Given the description of an element on the screen output the (x, y) to click on. 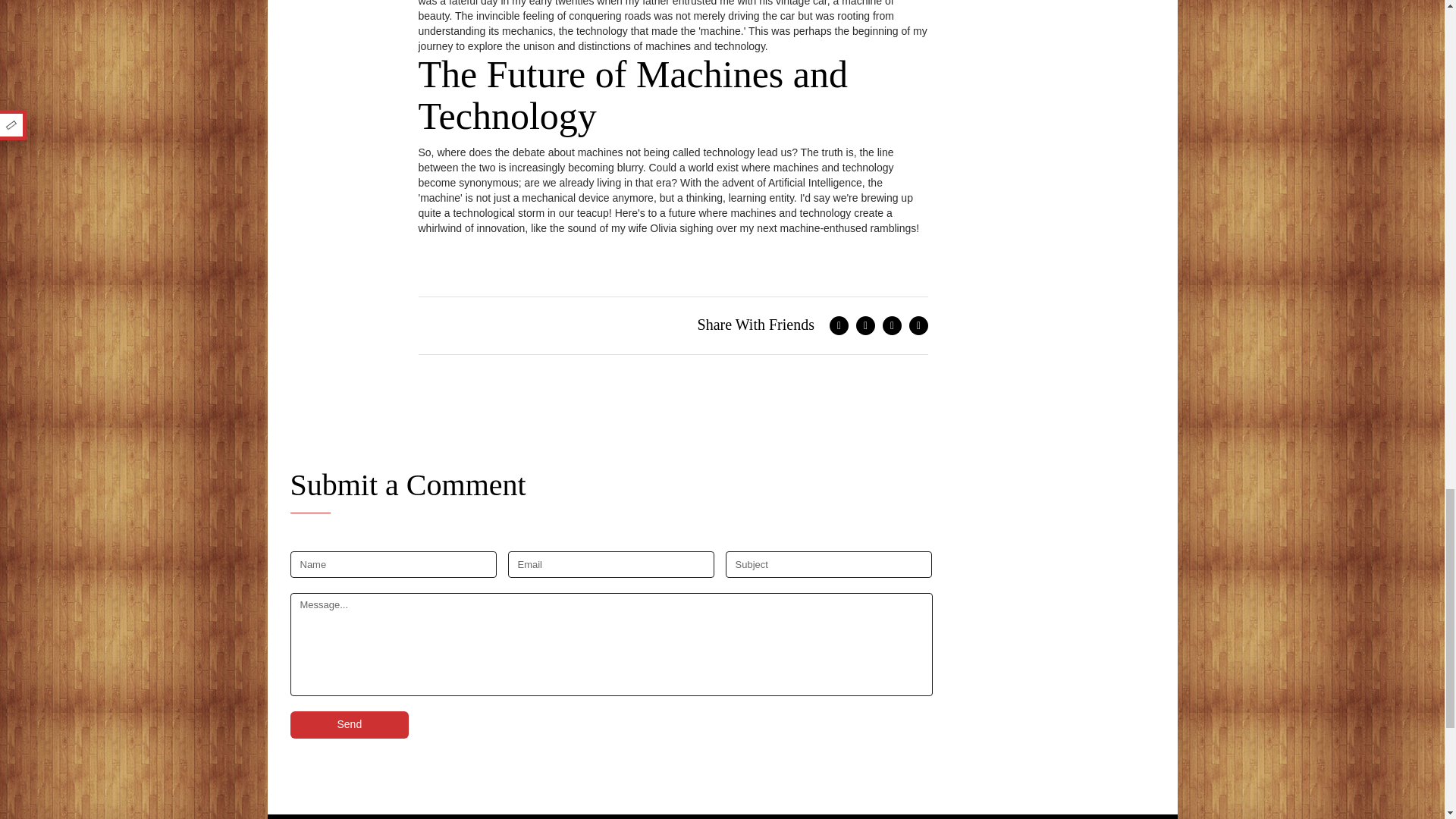
Send (349, 724)
